Given the description of an element on the screen output the (x, y) to click on. 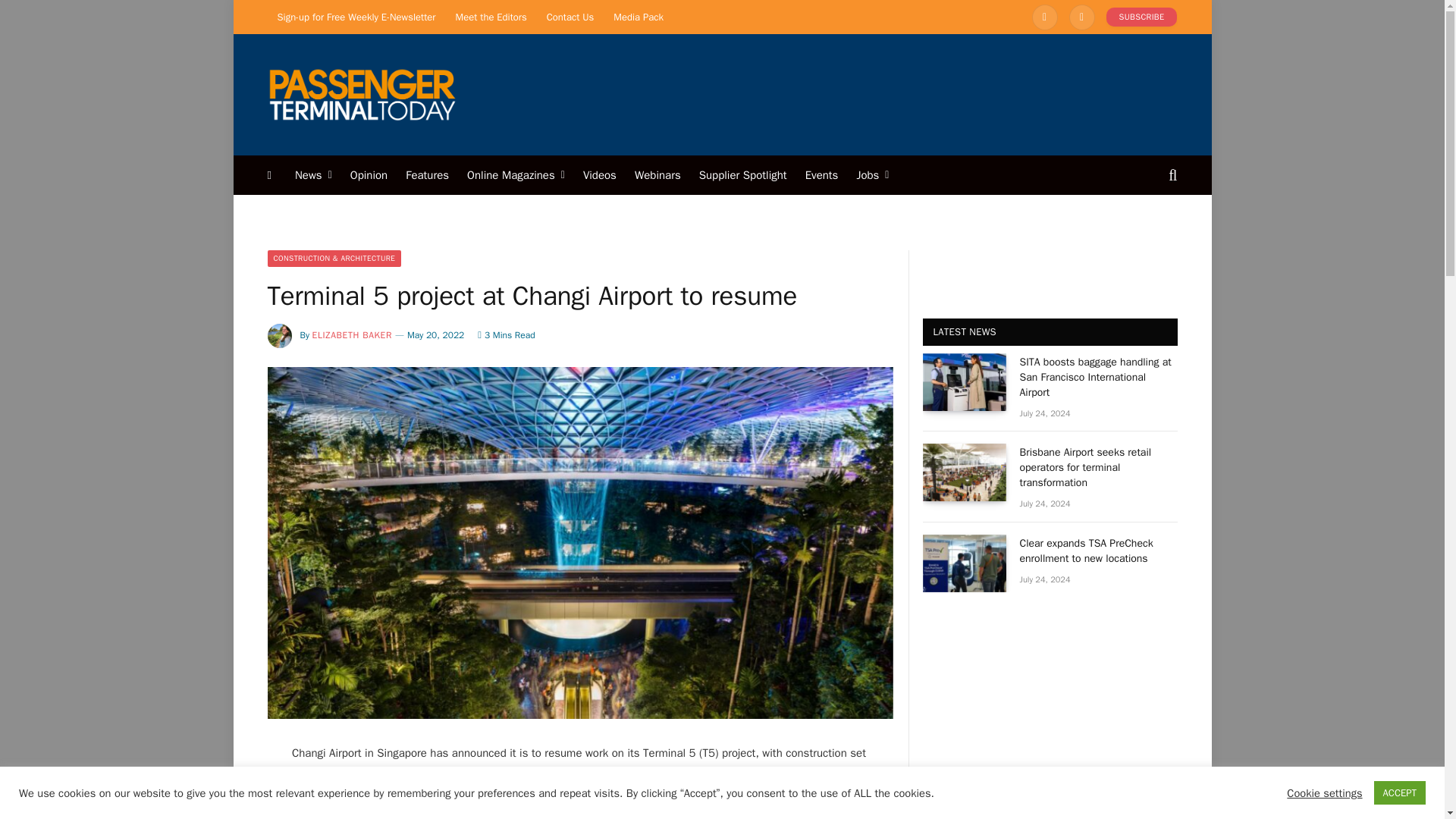
Passenger Terminal Today (361, 93)
Search (1171, 174)
Posts by Elizabeth Baker (352, 335)
